Given the description of an element on the screen output the (x, y) to click on. 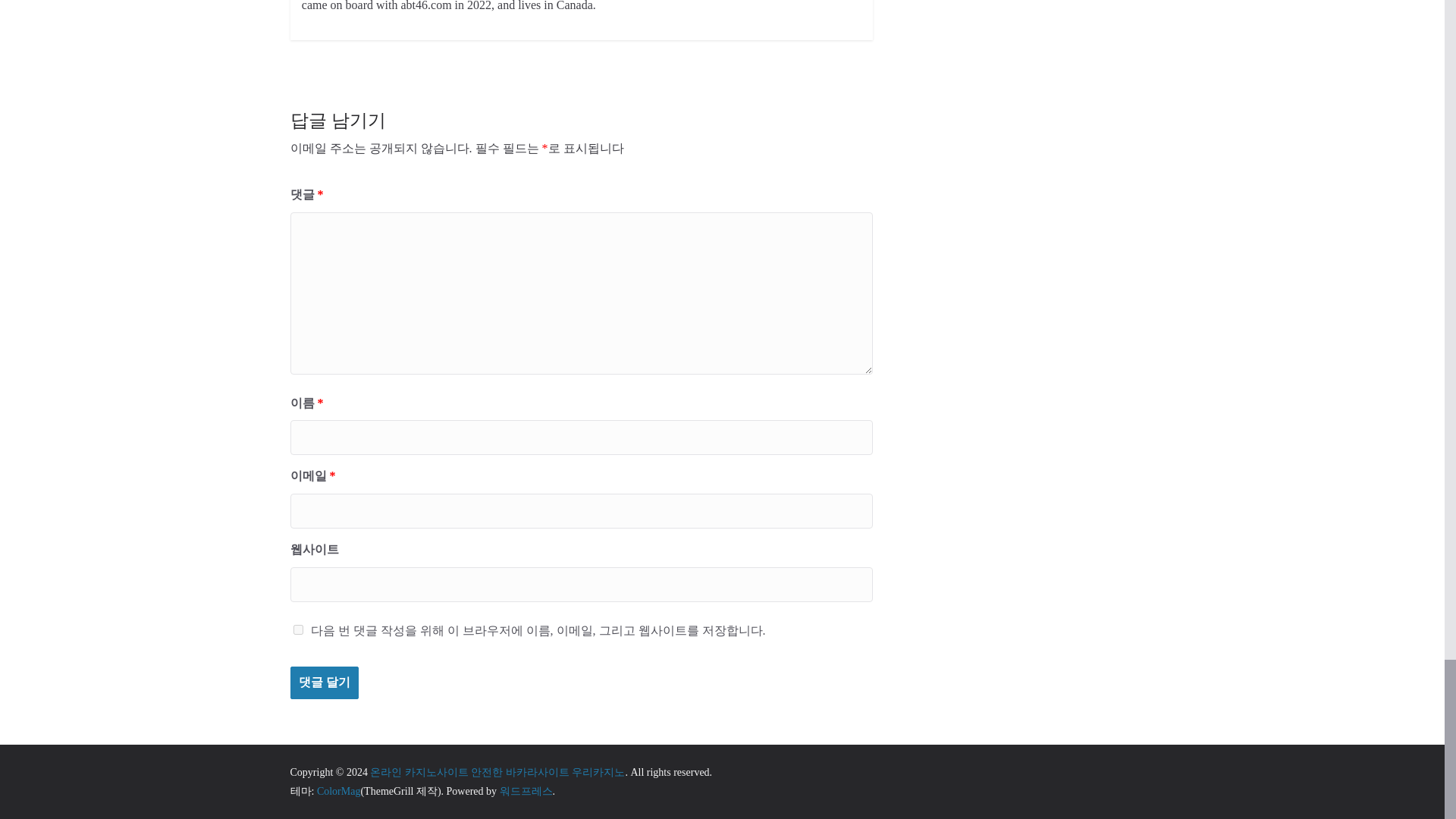
ColorMag (339, 790)
yes (297, 629)
ColorMag (339, 790)
